Given the description of an element on the screen output the (x, y) to click on. 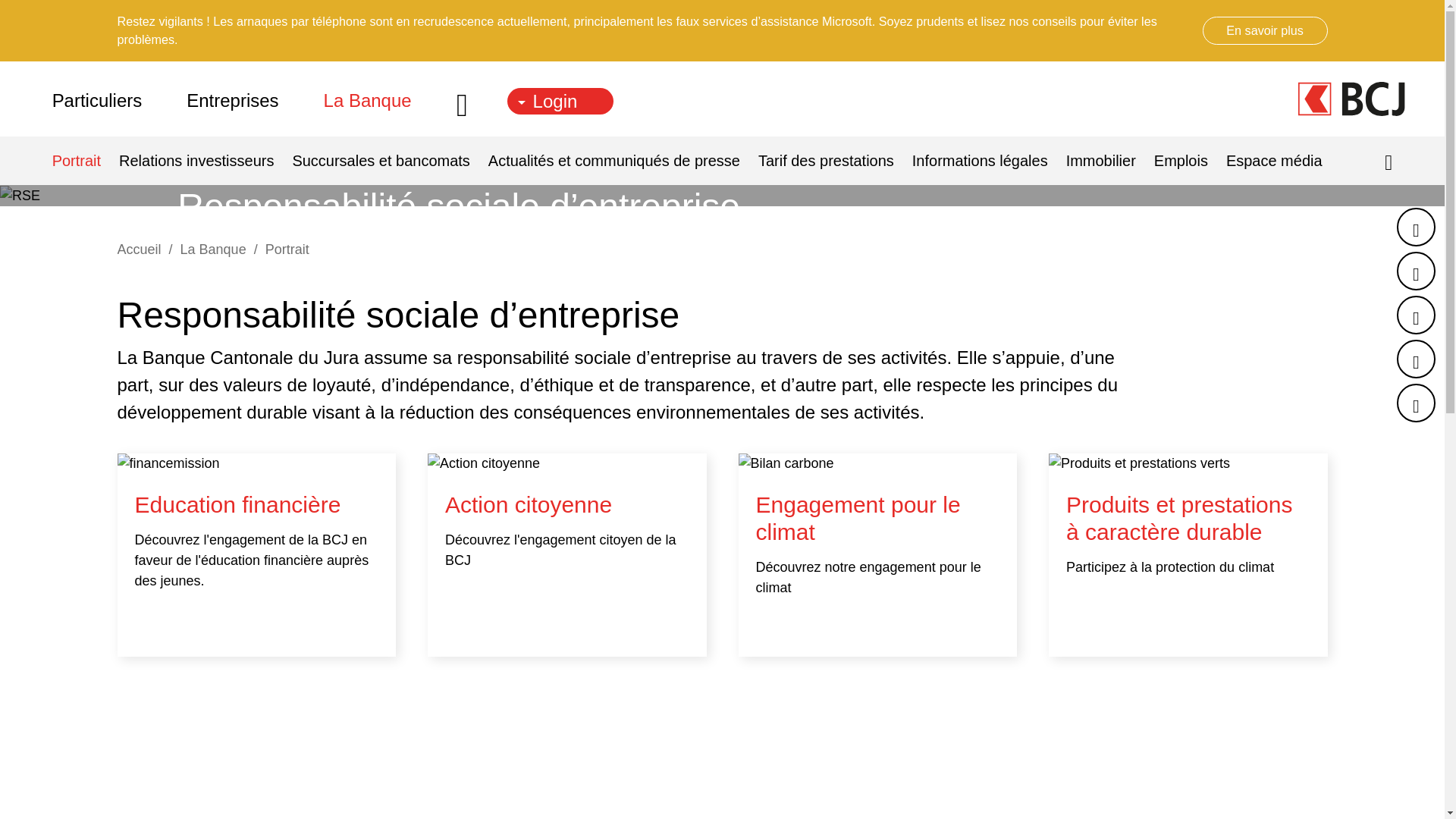
Relations investisseurs Element type: text (195, 160)
Tarif des prestations Element type: text (826, 160)
Entreprises Element type: text (232, 98)
La Banque Element type: text (367, 98)
Succursales et bancomats Element type: text (380, 160)
financemission Element type: text (255, 554)
Action citoyenne Element type: text (566, 554)
Portrait Element type: text (80, 160)
Bilan carbone Element type: text (877, 554)
Portrait Element type: text (287, 249)
Afficher la recherche Element type: text (1388, 162)
La Banque Element type: text (213, 249)
Login Element type: text (560, 101)
Immobilier Element type: text (1101, 160)
Particuliers Element type: text (107, 98)
Accueil Element type: text (138, 249)
En savoir plus Element type: text (1264, 29)
Emplois Element type: text (1181, 160)
Produits et prestations verts Element type: text (1187, 554)
